Given the description of an element on the screen output the (x, y) to click on. 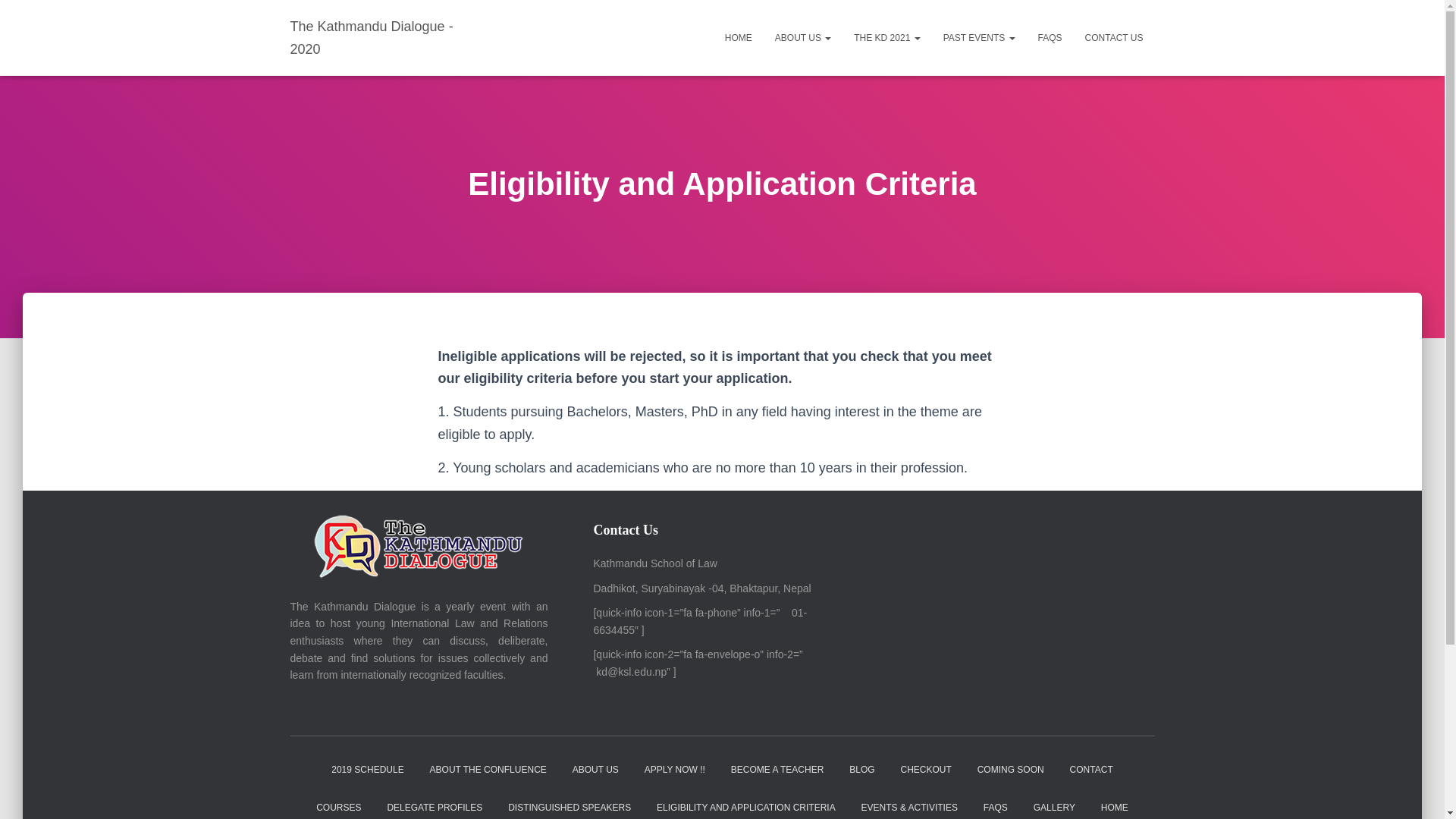
Home (737, 37)
GALLERY (1054, 804)
ABOUT US (802, 37)
FAQS (1050, 37)
THE KD 2021 (887, 37)
Past Events (978, 37)
DISTINGUISHED SPEAKERS (569, 804)
ELIGIBILITY AND APPLICATION CRITERIA (746, 804)
HOME (737, 37)
2019 SCHEDULE (367, 769)
